Given the description of an element on the screen output the (x, y) to click on. 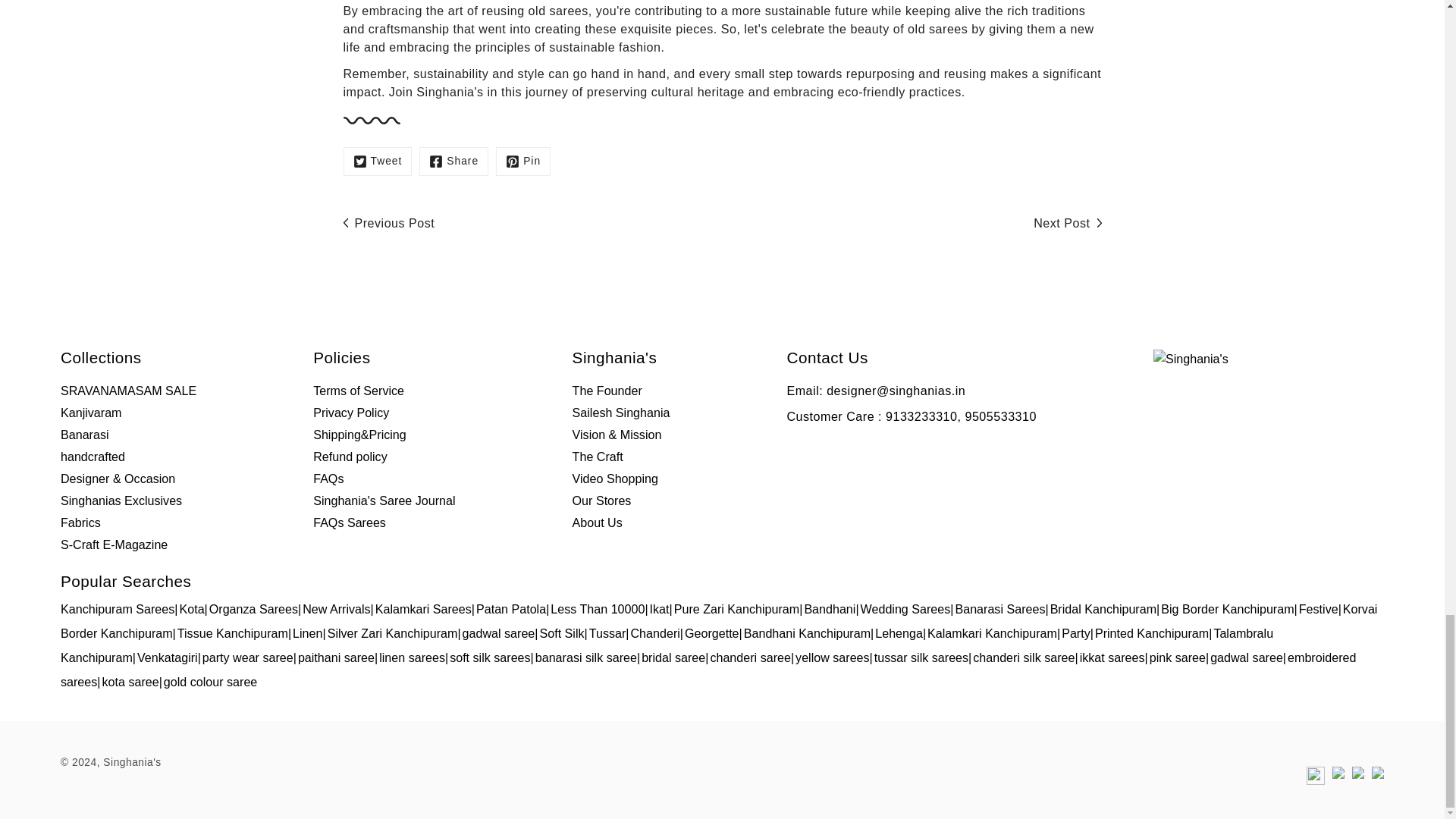
Twitter (377, 161)
Facebook (453, 161)
Pinterest (523, 161)
